Given the description of an element on the screen output the (x, y) to click on. 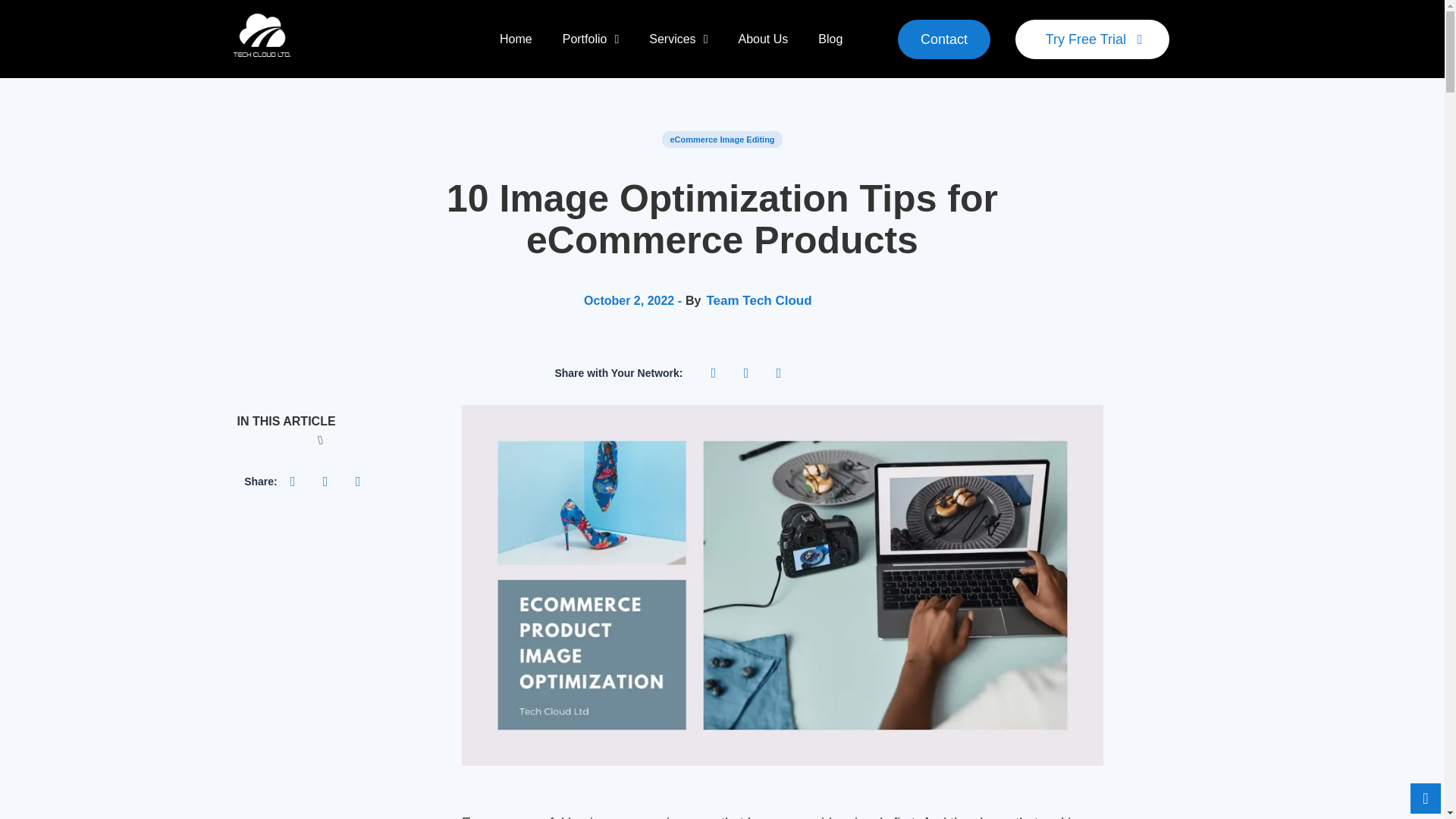
Services (677, 38)
About Us (762, 38)
Team Tech Cloud (758, 300)
Contact (944, 38)
eCommerce Image Editing (721, 139)
Portfolio (590, 38)
Blog (830, 38)
Home (515, 38)
Try Free Trial (1091, 38)
